Given the description of an element on the screen output the (x, y) to click on. 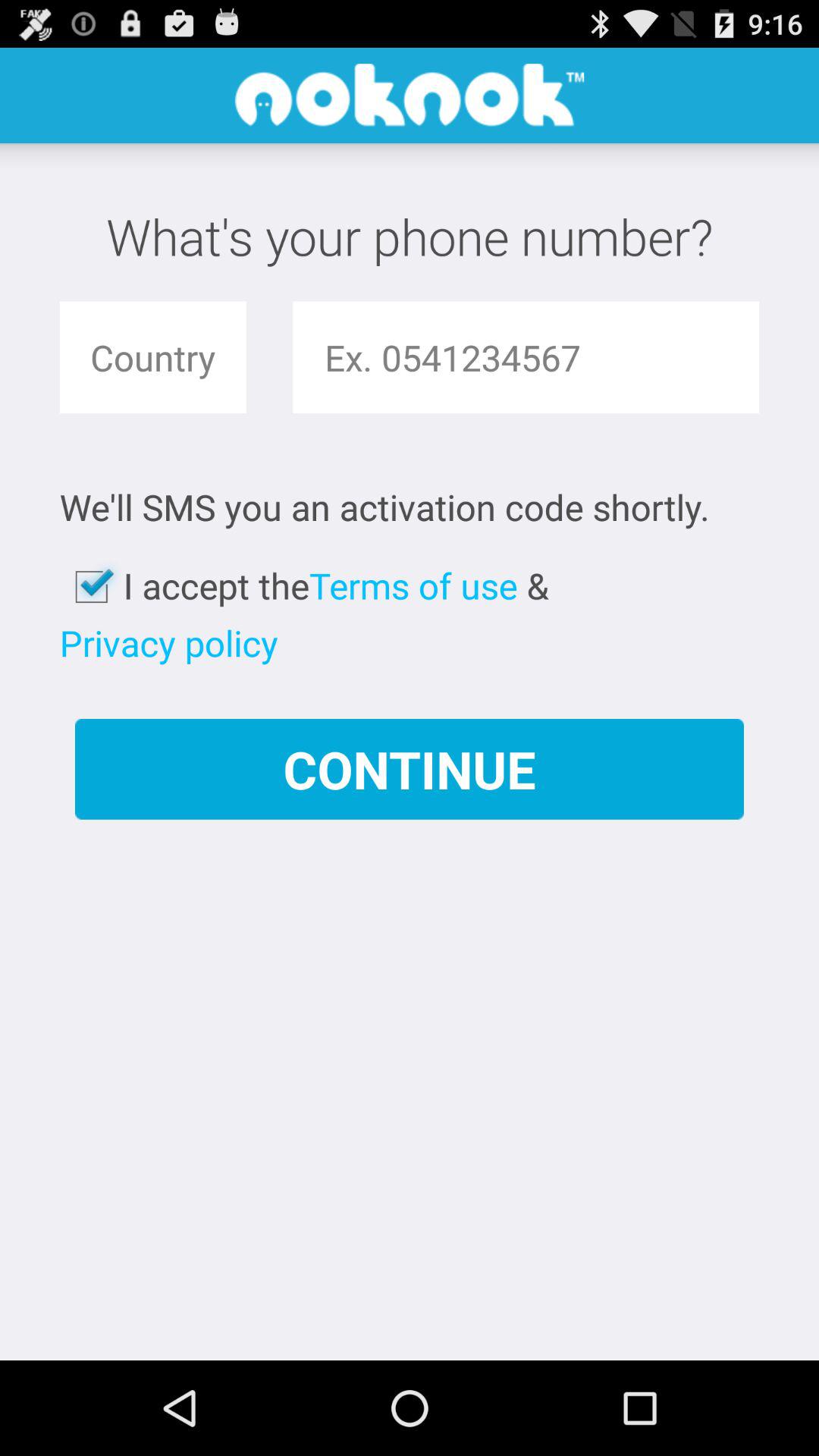
click the app below what s your icon (152, 357)
